Given the description of an element on the screen output the (x, y) to click on. 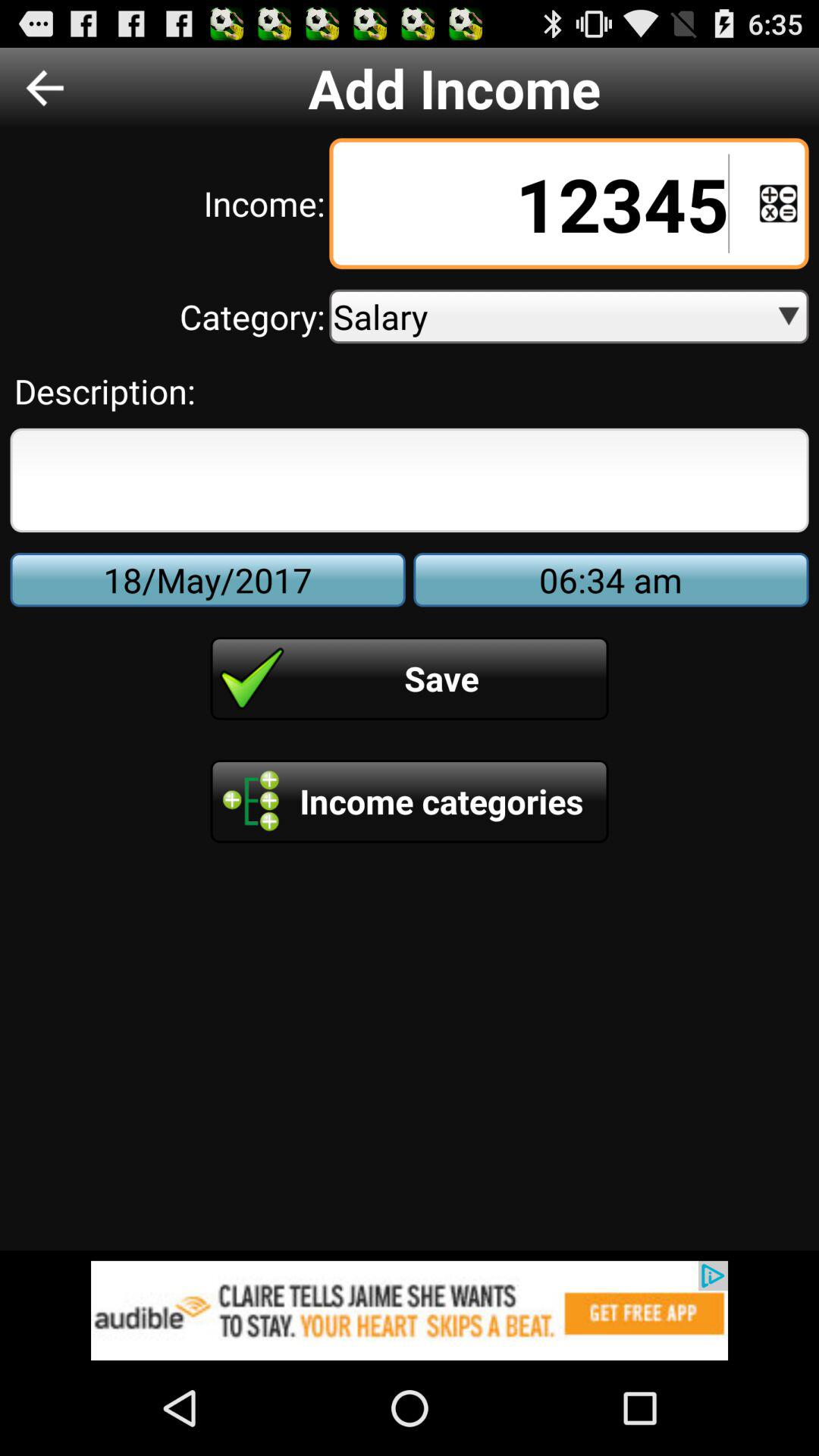
describe a type of income (409, 480)
